Given the description of an element on the screen output the (x, y) to click on. 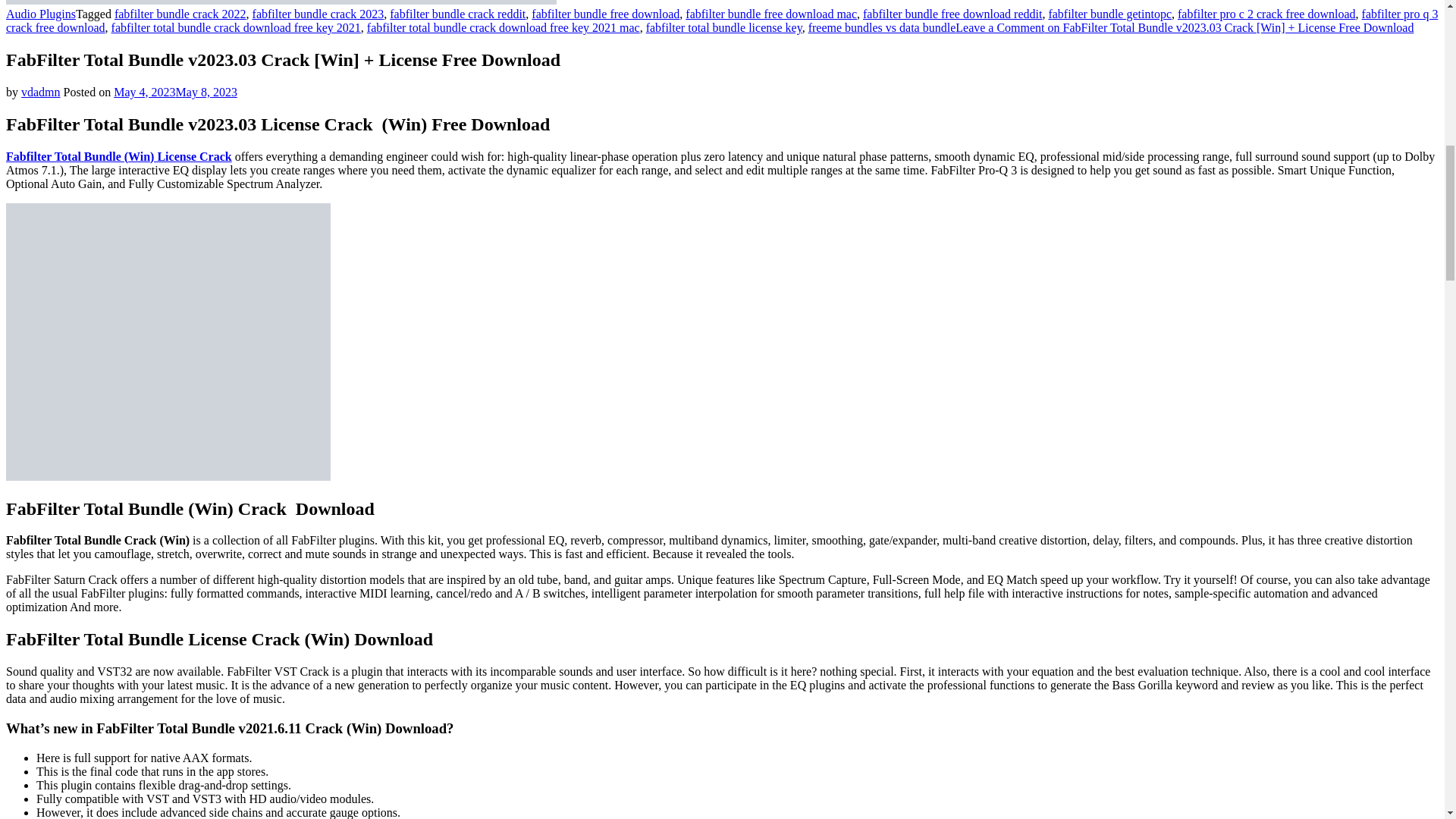
Search (1226, 42)
Search (1226, 42)
